Given the description of an element on the screen output the (x, y) to click on. 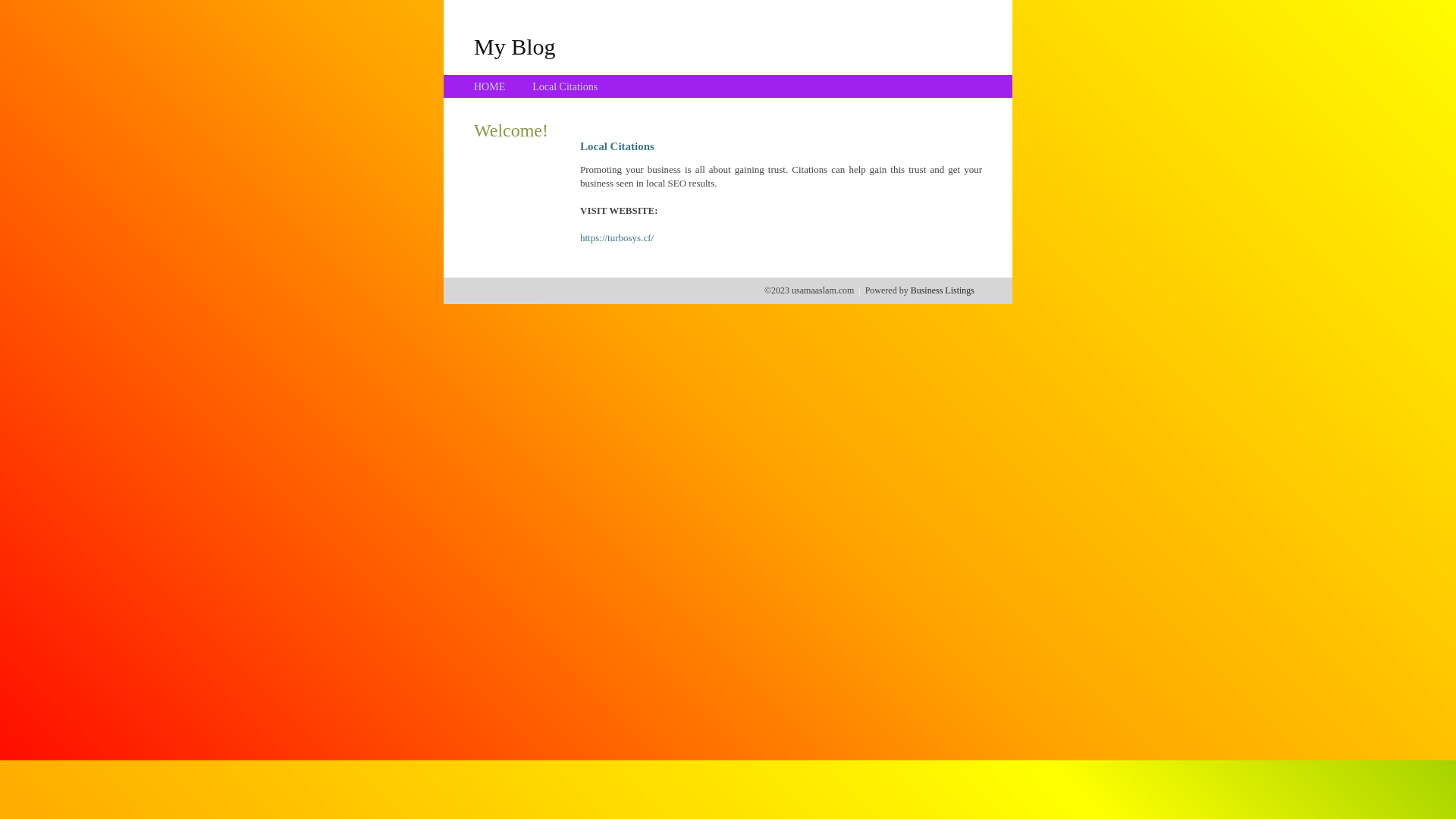
https://turbosys.cf/ Element type: text (616, 237)
Local Citations Element type: text (564, 86)
My Blog Element type: text (514, 46)
Business Listings Element type: text (942, 290)
HOME Element type: text (489, 86)
